Given the description of an element on the screen output the (x, y) to click on. 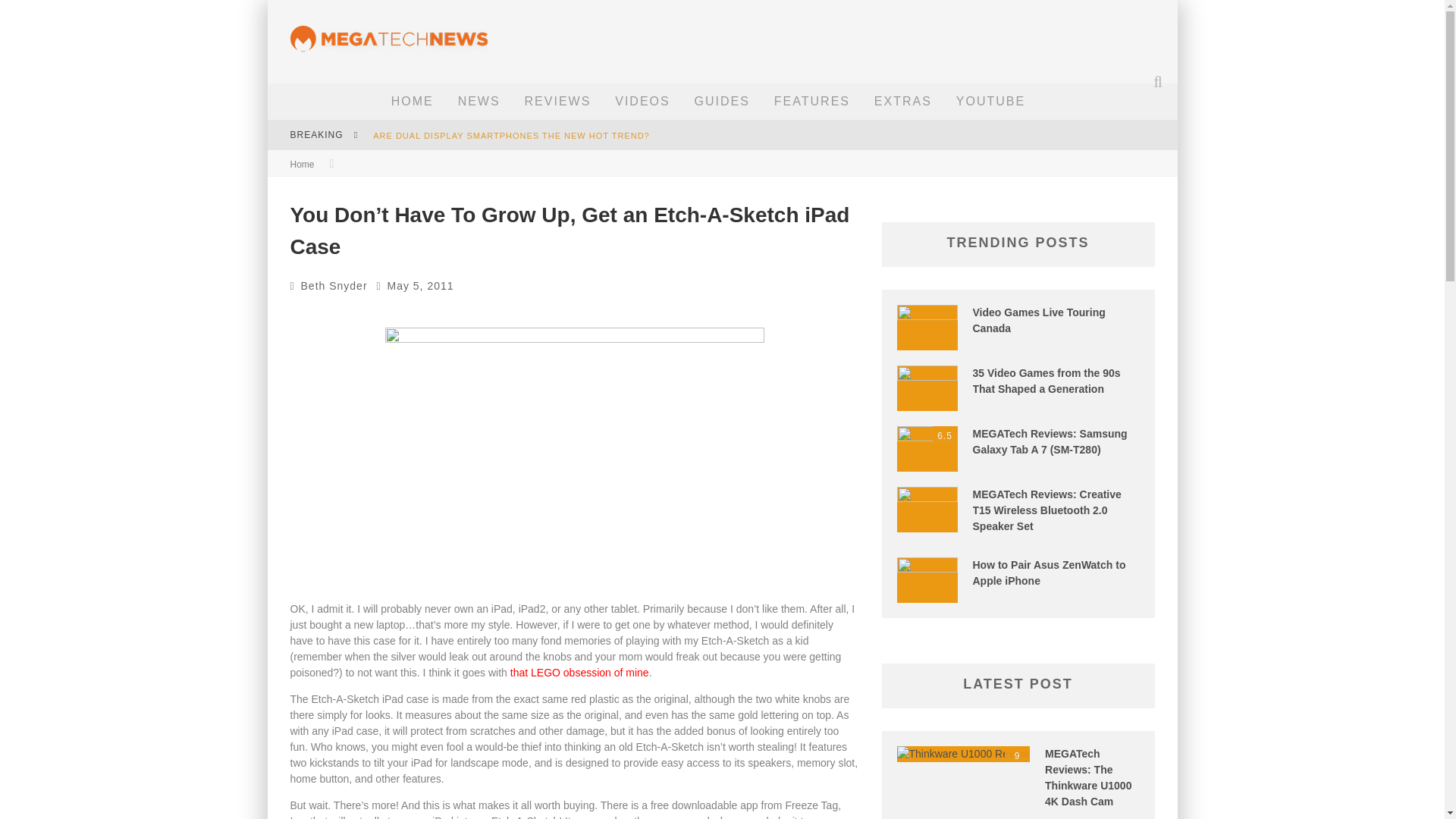
REVIEWS (557, 101)
GUIDES (721, 101)
VIDEOS (642, 101)
Are Dual Display Smartphones the New Hot Trend? (510, 135)
HOME (412, 101)
NEWS (479, 101)
